Given the description of an element on the screen output the (x, y) to click on. 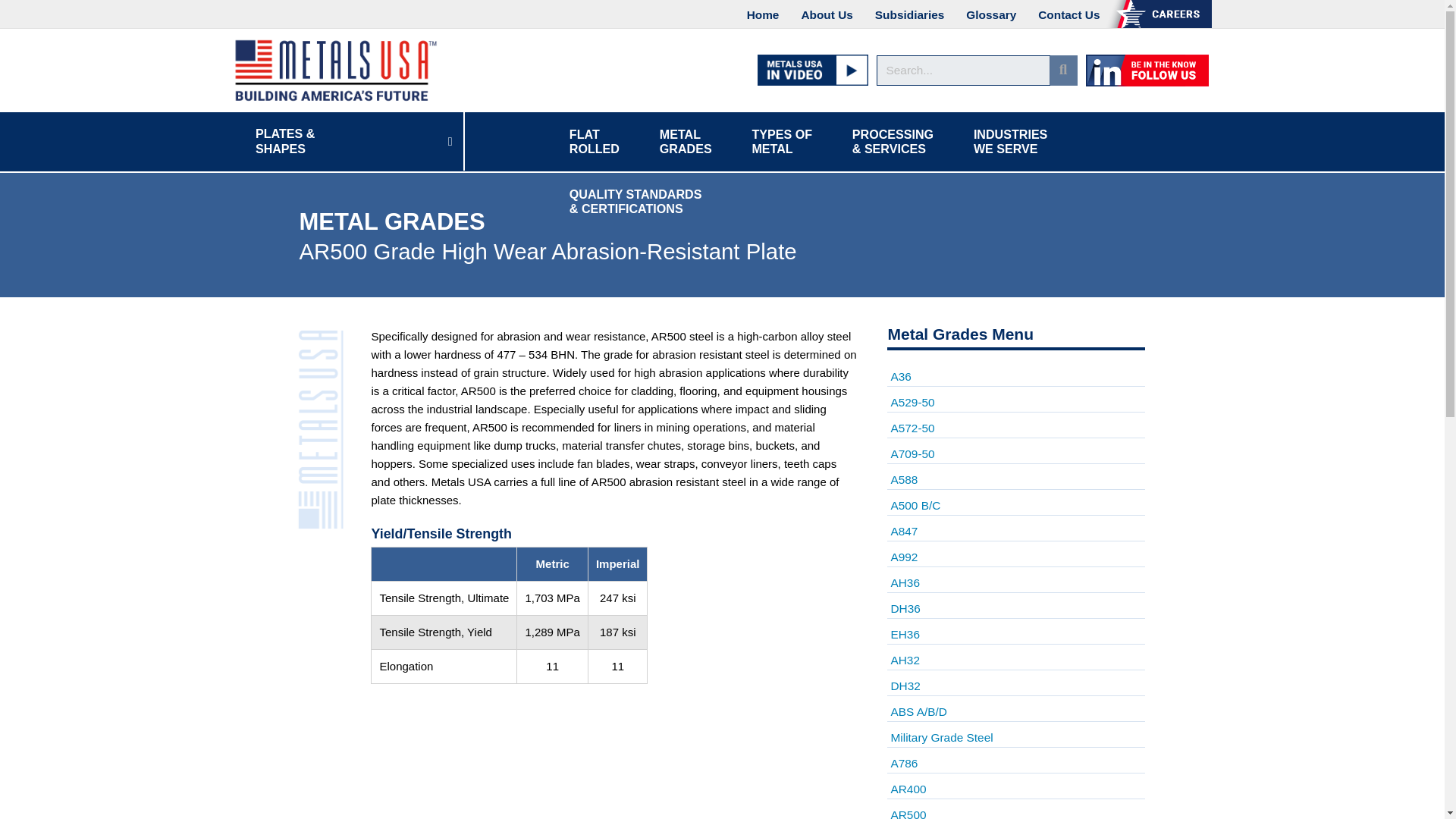
Contact Us (1068, 14)
Metals USA In Video (812, 69)
Home (762, 14)
About Us (825, 14)
Glossary (990, 14)
Follow Metals USA on LinkedIn (1147, 69)
Subsidiaries (909, 14)
